Given the description of an element on the screen output the (x, y) to click on. 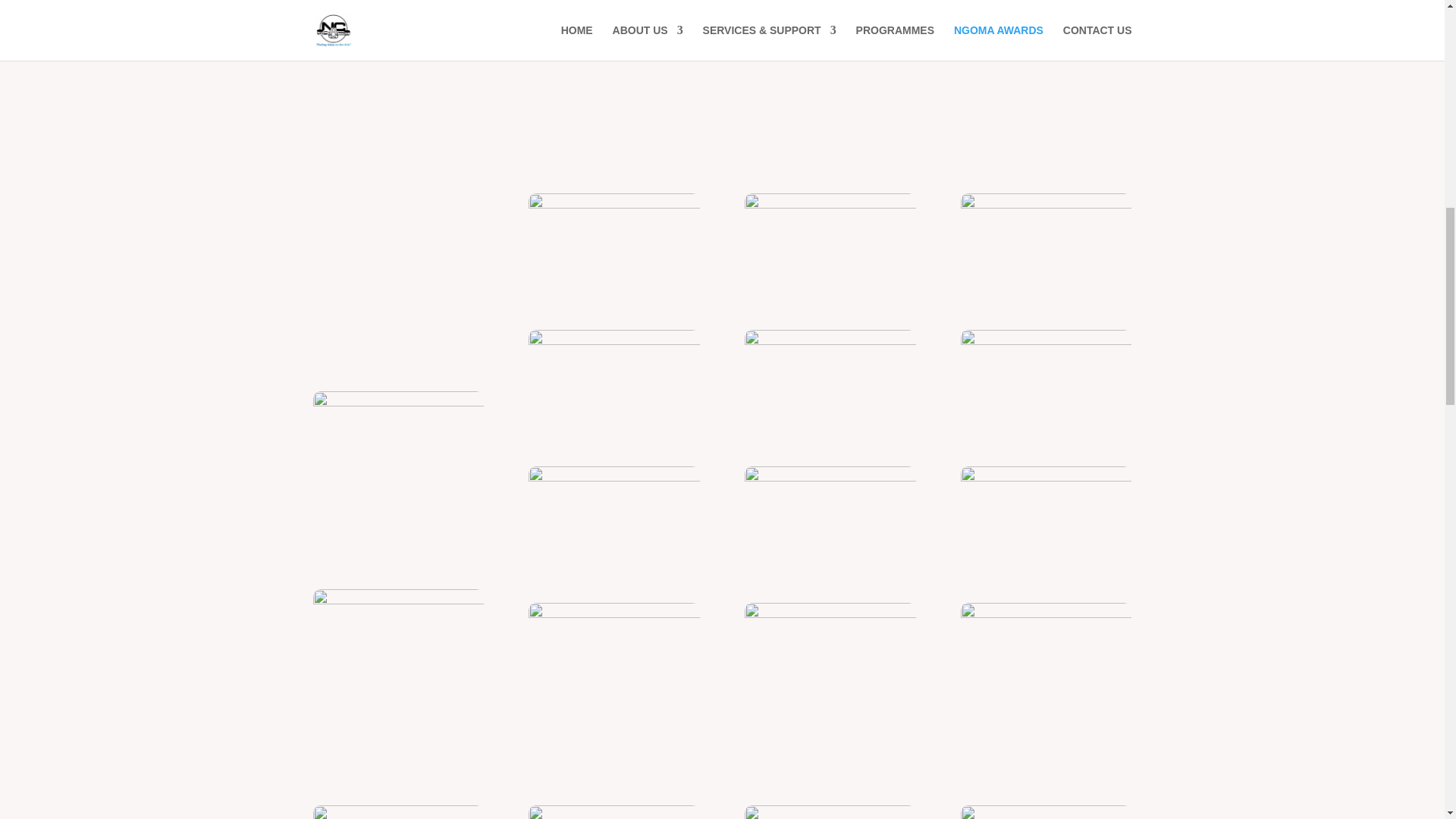
k-0387 (613, 386)
k-0871 (613, 250)
k-0320 (505, 64)
k-1106 (613, 659)
k-0734 (1045, 659)
k-0415 (613, 522)
k-0392 (829, 250)
DSC03299 (829, 522)
k-0891 (829, 659)
k-0249 (398, 250)
